Given the description of an element on the screen output the (x, y) to click on. 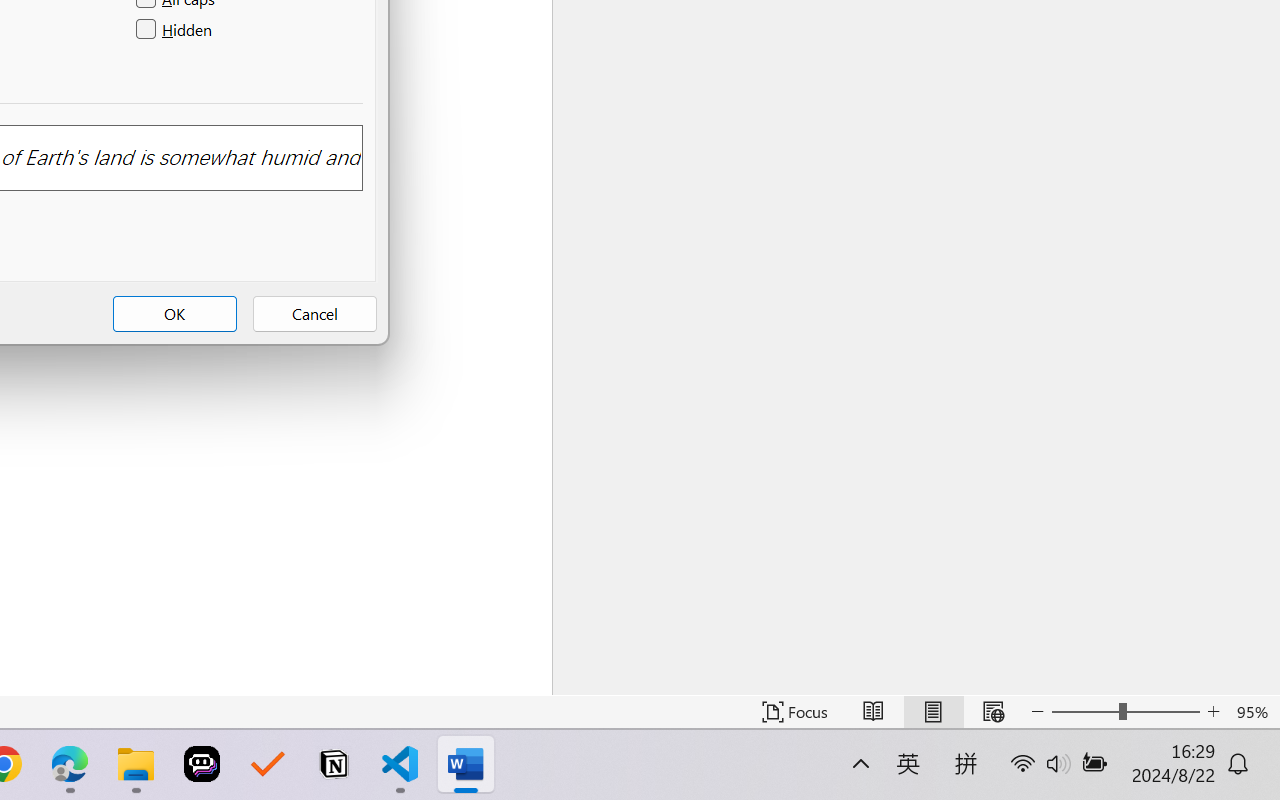
Hidden (175, 29)
Poe (201, 764)
OK (175, 313)
Zoom 95% (1253, 712)
